Given the description of an element on the screen output the (x, y) to click on. 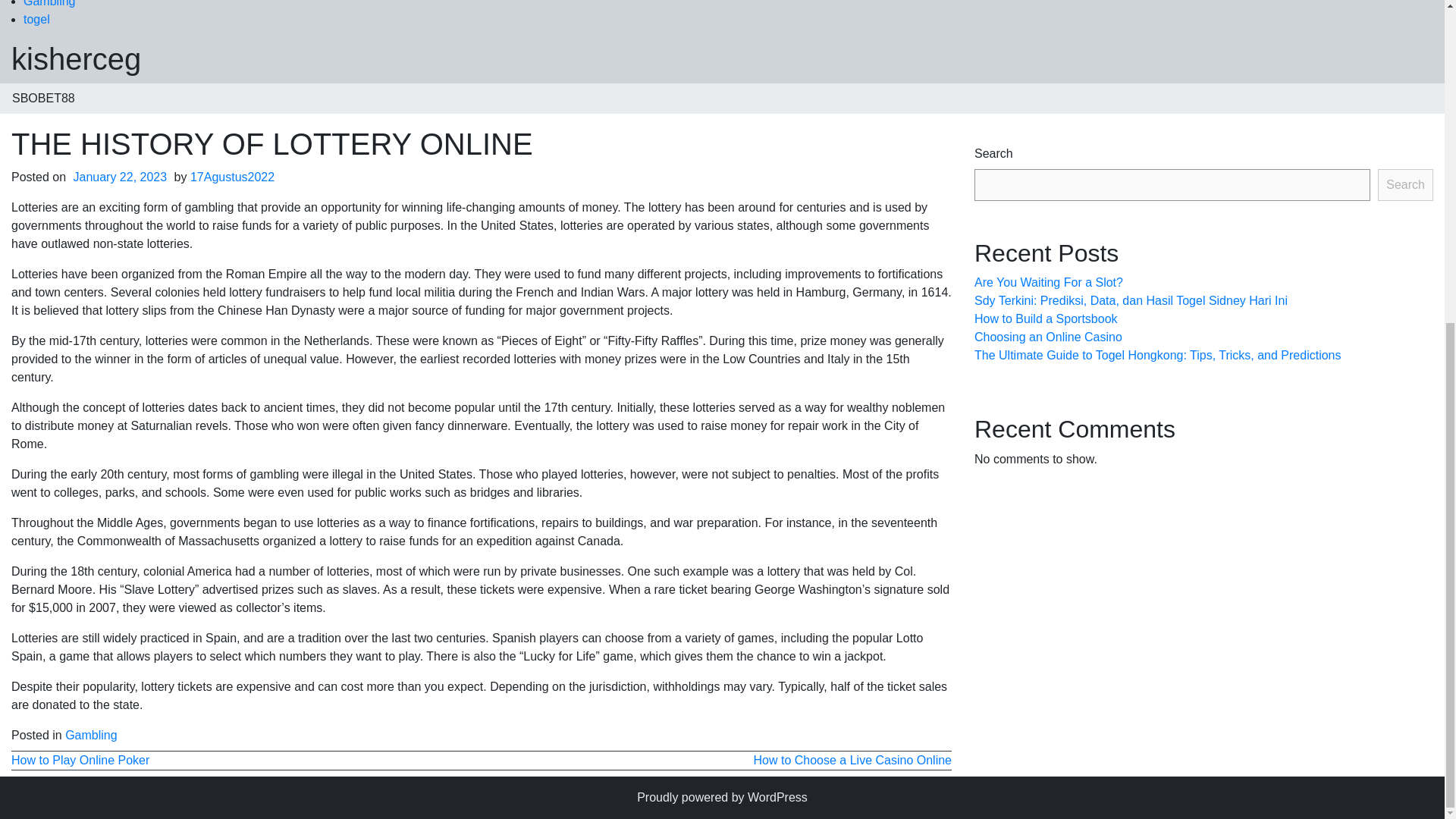
17Agustus2022 (232, 176)
Search (1404, 184)
How to Choose a Live Casino Online (853, 759)
How to Build a Sportsbook (1046, 318)
Gambling (90, 735)
Gambling (49, 3)
January 22, 2023 (120, 176)
SBOBET88 (43, 98)
Are You Waiting For a Slot? (1048, 282)
Choosing an Online Casino (1048, 336)
How to Play Online Poker (80, 759)
kisherceg (76, 59)
togel (36, 19)
Sdy Terkini: Prediksi, Data, dan Hasil Togel Sidney Hari Ini (1130, 300)
